Given the description of an element on the screen output the (x, y) to click on. 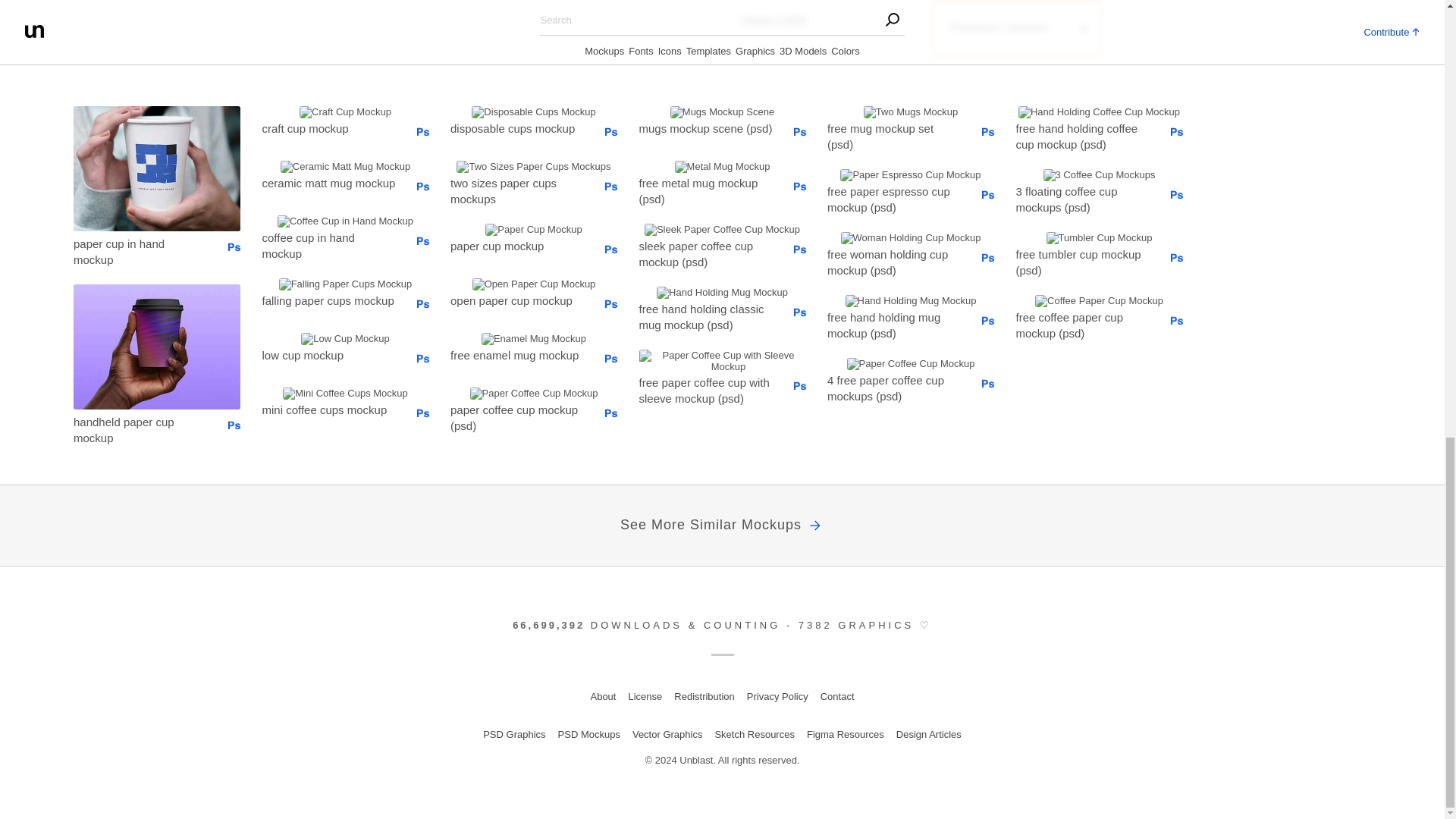
coffee cup in hand mockup (329, 244)
disposable cups mockup (516, 127)
paper cup mockup (516, 244)
ceramic matt mug mockup (329, 182)
paper cup in hand mockup (140, 251)
craft cup mockup (329, 127)
mini coffee cups mockup (329, 408)
Premium Version (1015, 27)
falling paper cups mockup (329, 299)
handheld paper cup mockup (140, 428)
two sizes paper cups mockups (516, 190)
low cup mockup (329, 353)
open paper cup mockup (516, 299)
